Given the description of an element on the screen output the (x, y) to click on. 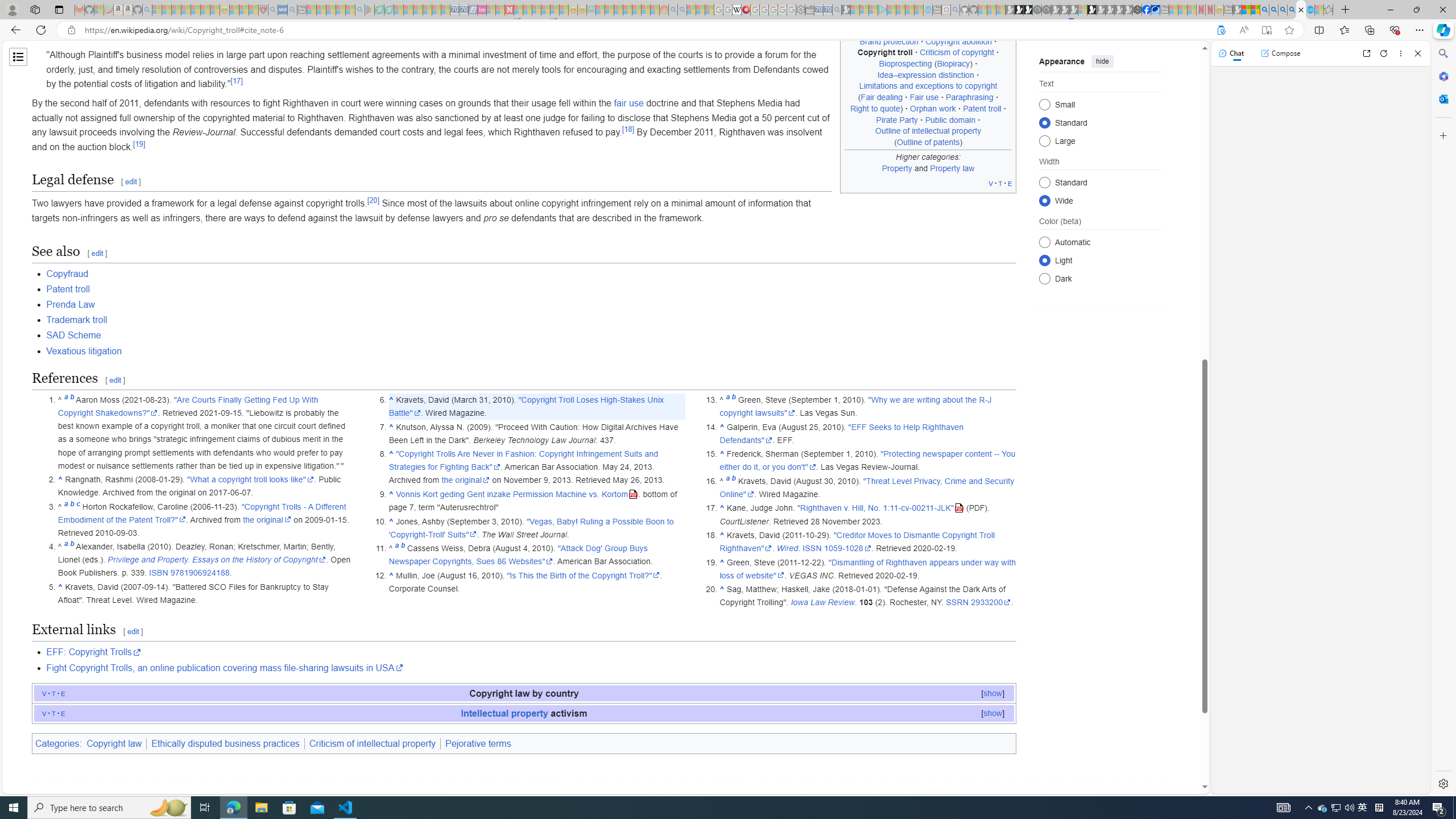
Public domain (949, 119)
Pejorative terms (478, 742)
View site information (70, 29)
Back (13, 29)
[17] (236, 80)
[show] (992, 712)
Vexatious litigation (84, 350)
ISBN (158, 573)
MediaWiki (745, 9)
Criticism of copyright (957, 52)
Collections (1369, 29)
